Given the description of an element on the screen output the (x, y) to click on. 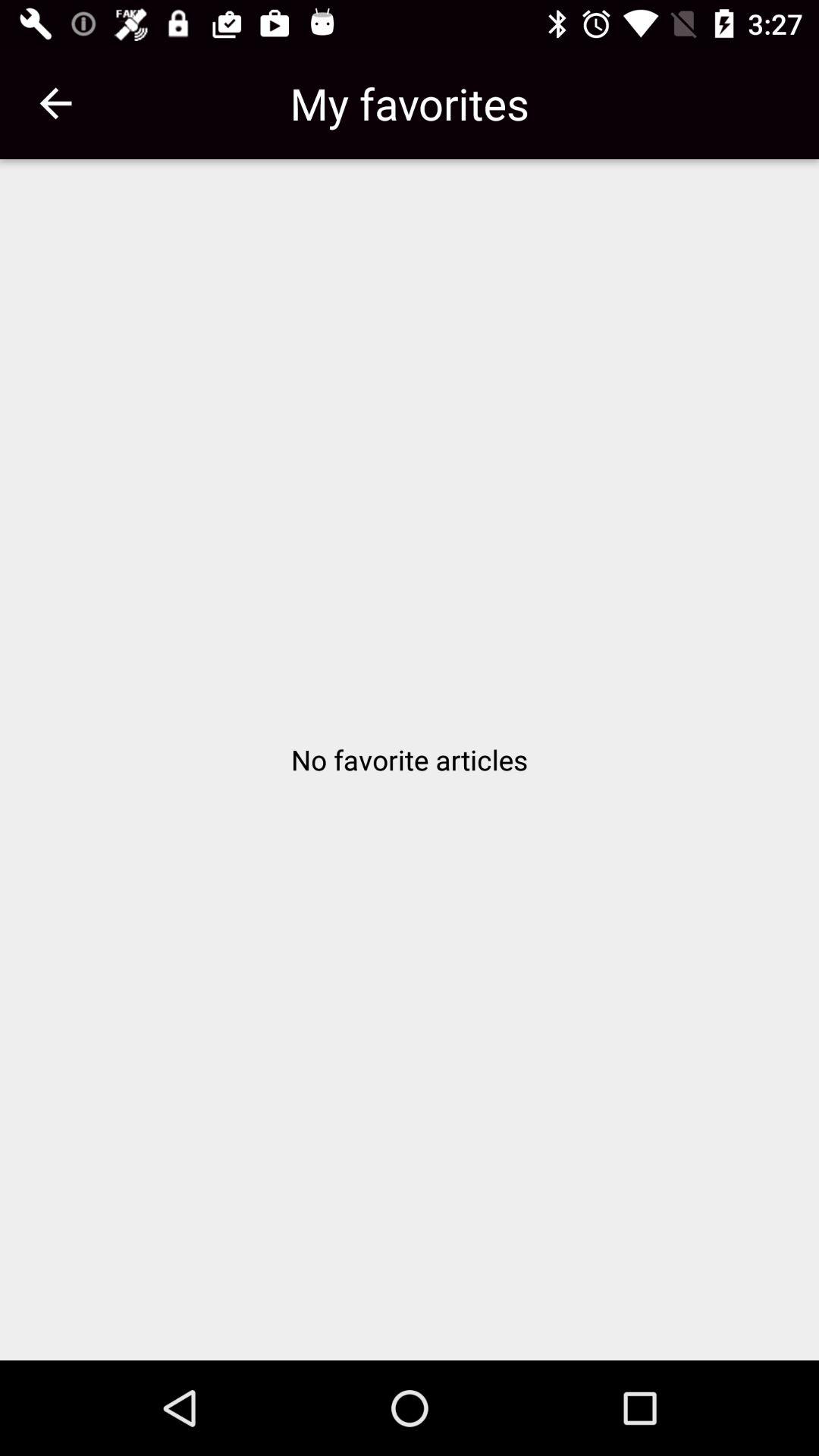
click item next to my favorites item (55, 103)
